Given the description of an element on the screen output the (x, y) to click on. 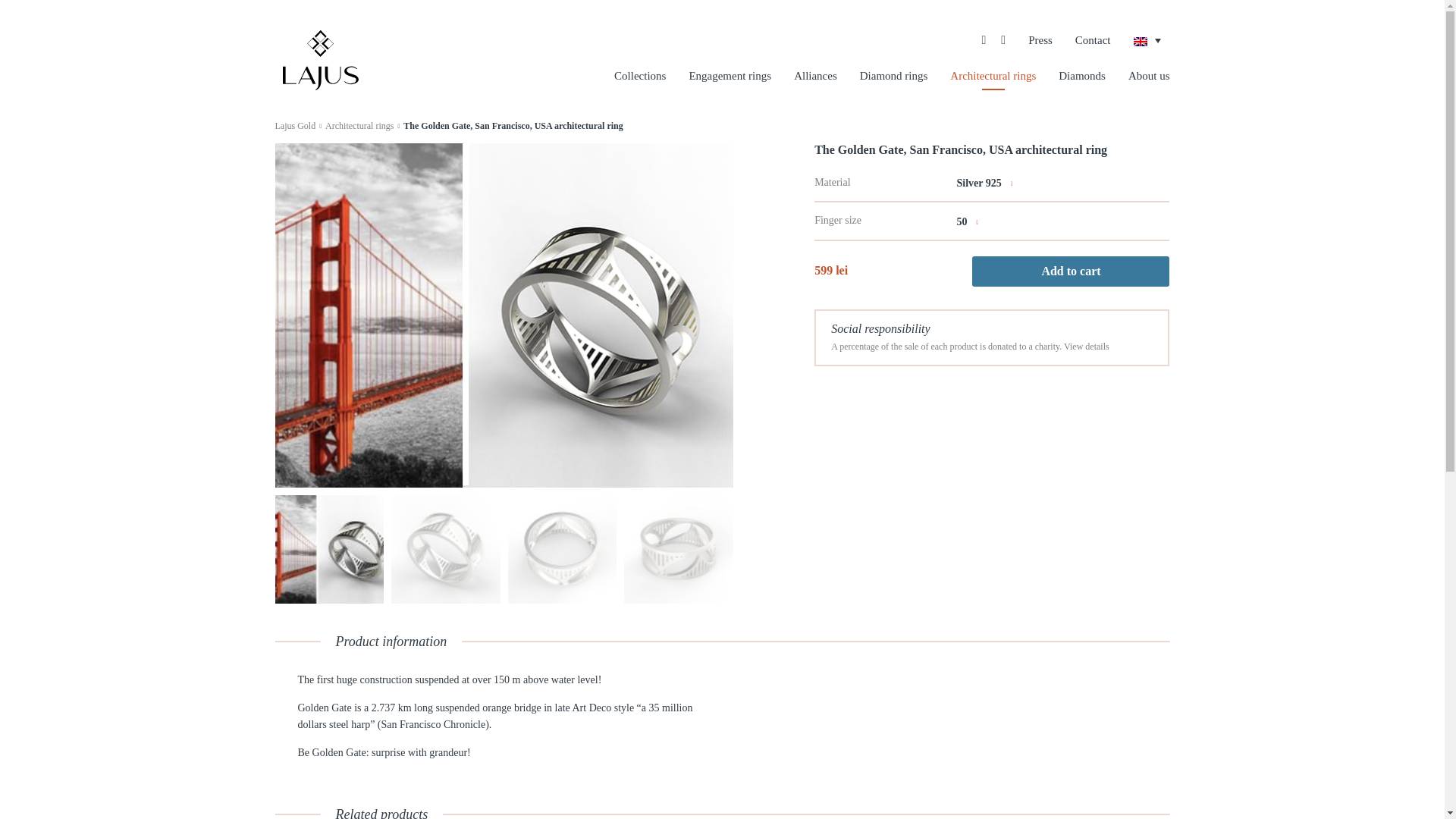
Architectural rings (358, 125)
Contact (1092, 40)
Diamonds (1081, 75)
Go to Lajus Gold. (295, 125)
Collections (639, 75)
About us (1149, 75)
Lajus (320, 60)
Press (1039, 40)
Add to cart (1070, 271)
Engagement rings (729, 75)
Silver 925 (983, 183)
